Given the description of an element on the screen output the (x, y) to click on. 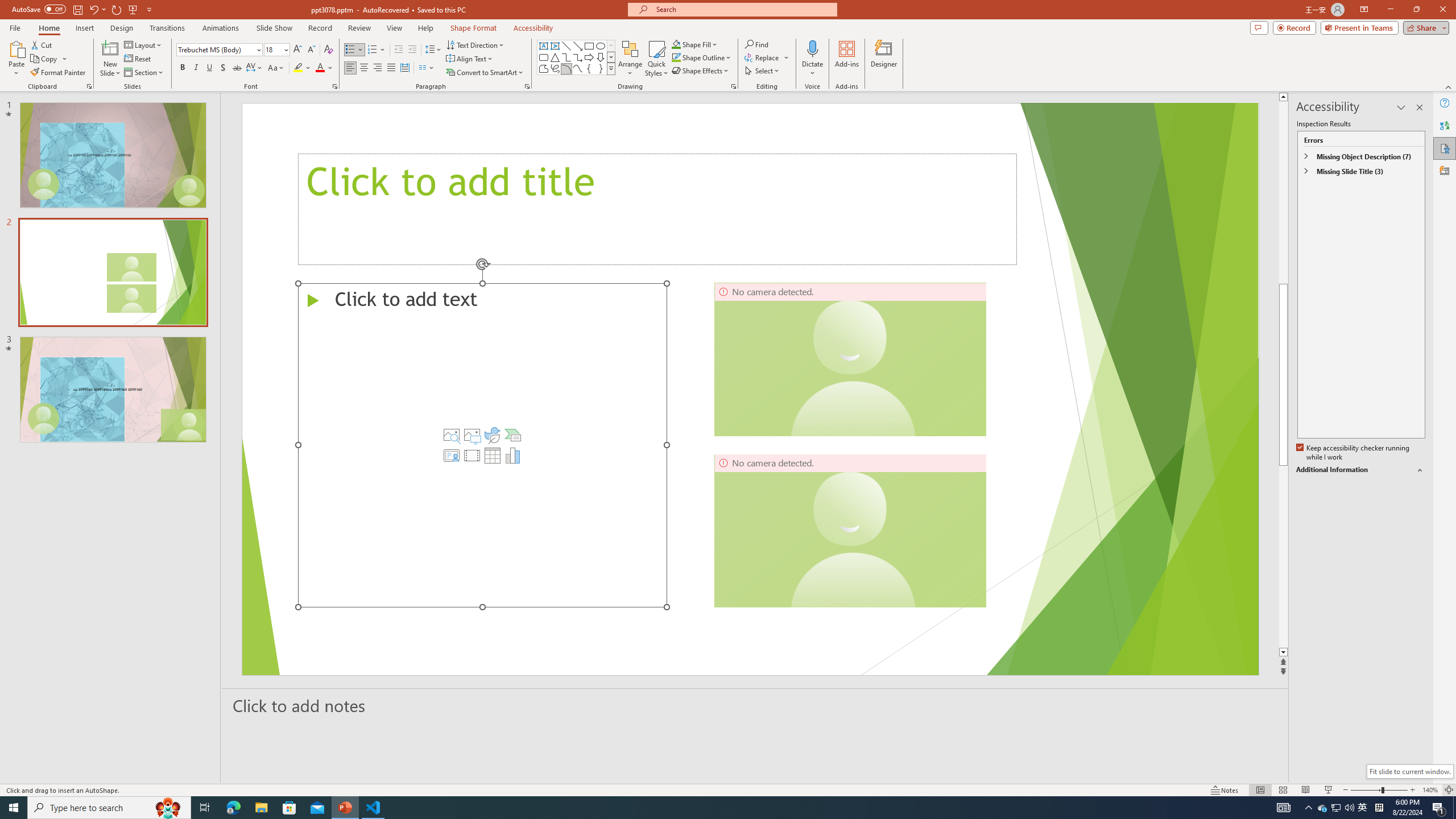
Insert an Icon (492, 434)
